Given the description of an element on the screen output the (x, y) to click on. 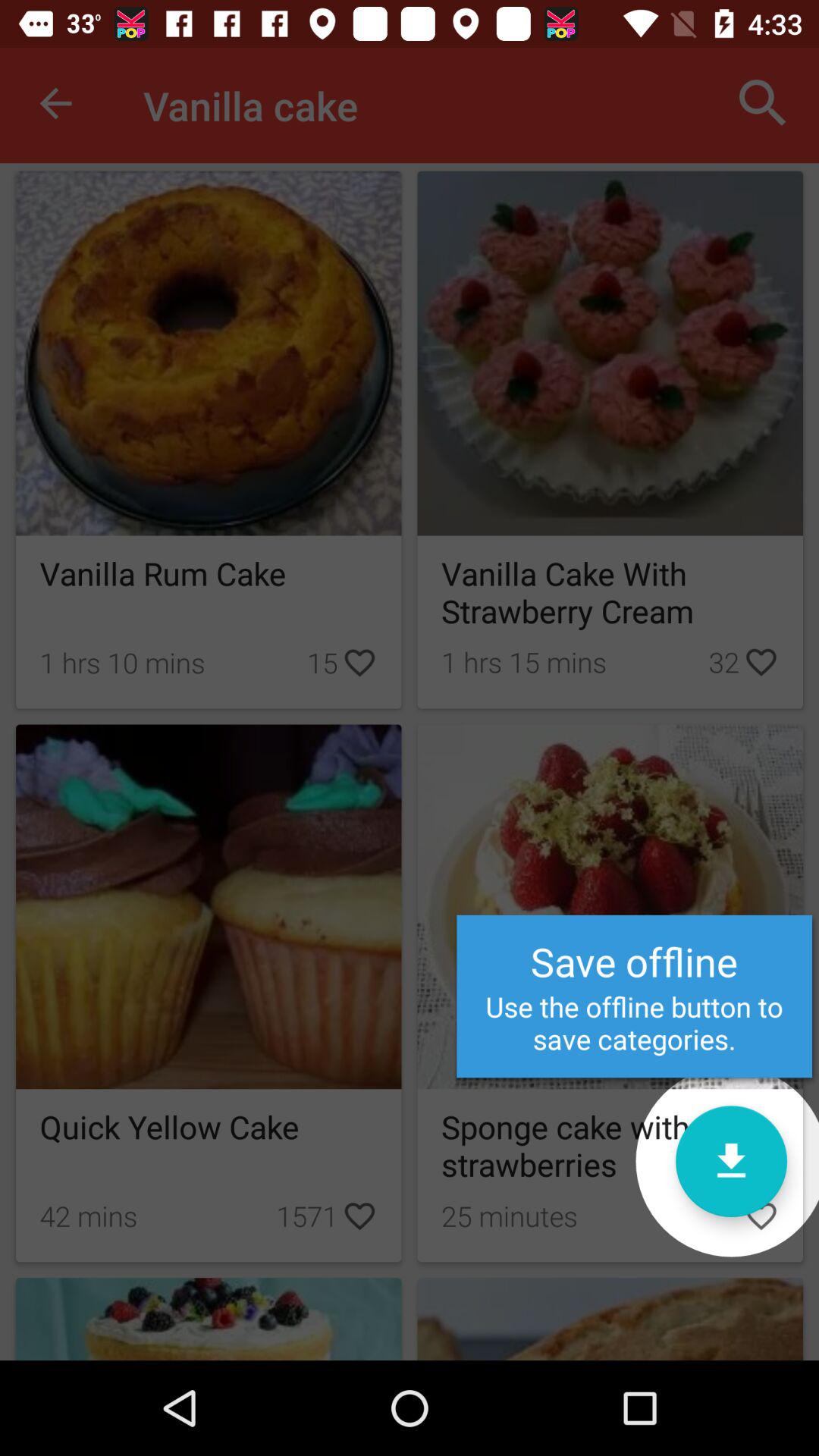
press the item next to the vanilla cake (55, 103)
